Given the description of an element on the screen output the (x, y) to click on. 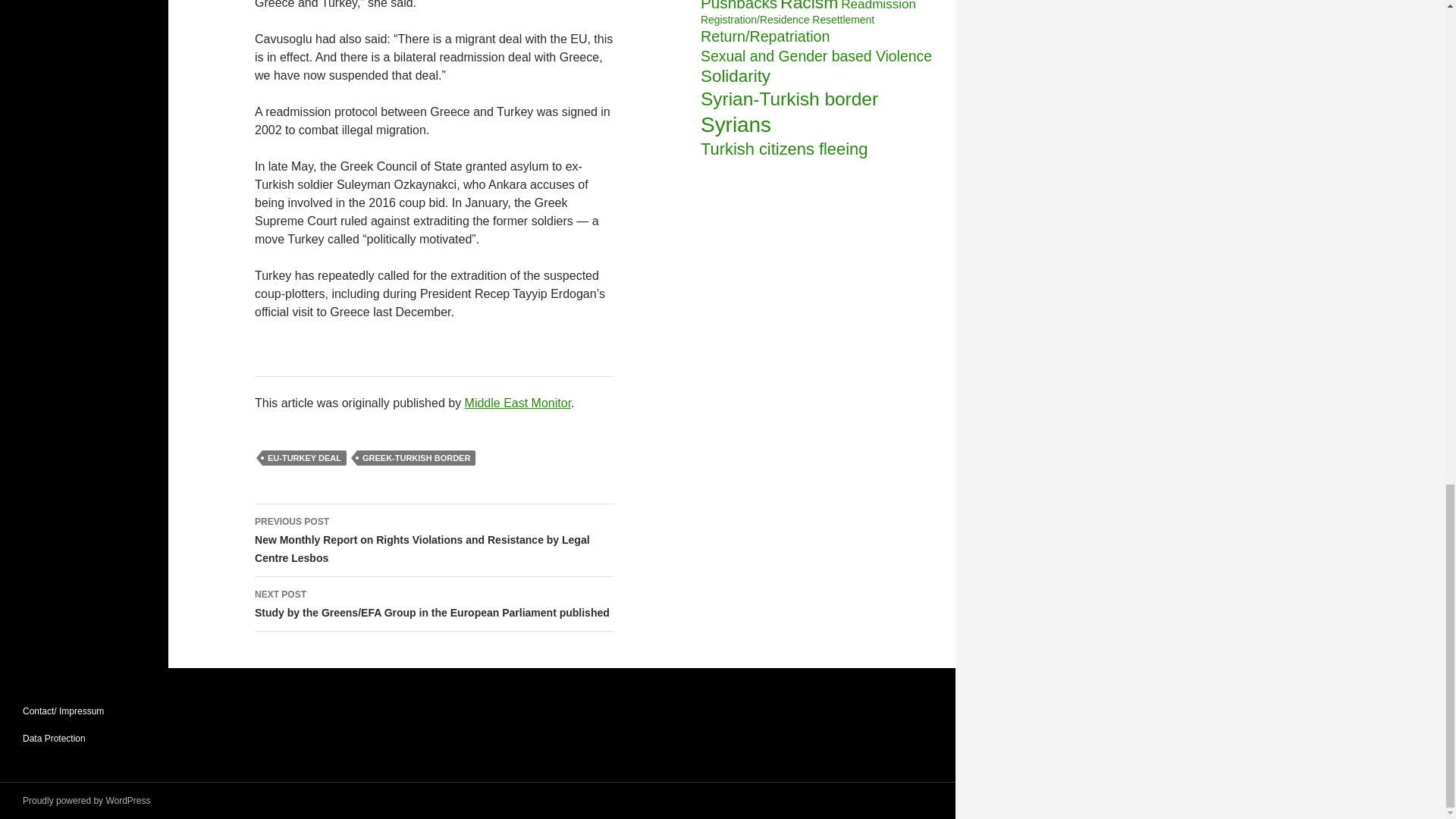
EU-TURKEY DEAL (304, 458)
Middle East Monitor (518, 402)
GREEK-TURKISH BORDER (416, 458)
